Given the description of an element on the screen output the (x, y) to click on. 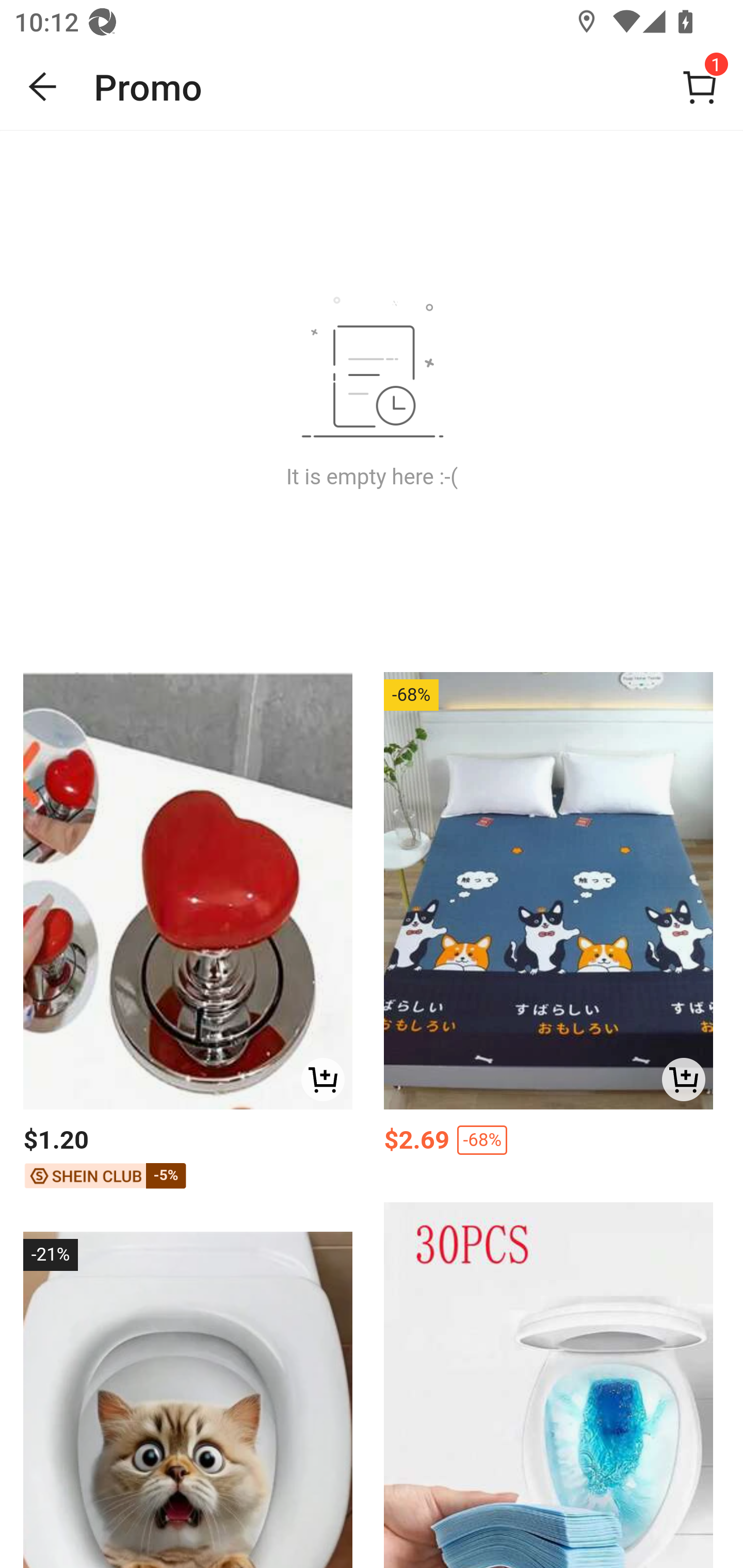
BACK (43, 86)
Cart 1 (699, 86)
$1.20 sui_icon_paidmember_Label@3x-91f33d47f8 -5% (187, 1158)
$2.69 -68% (548, 1143)
